Given the description of an element on the screen output the (x, y) to click on. 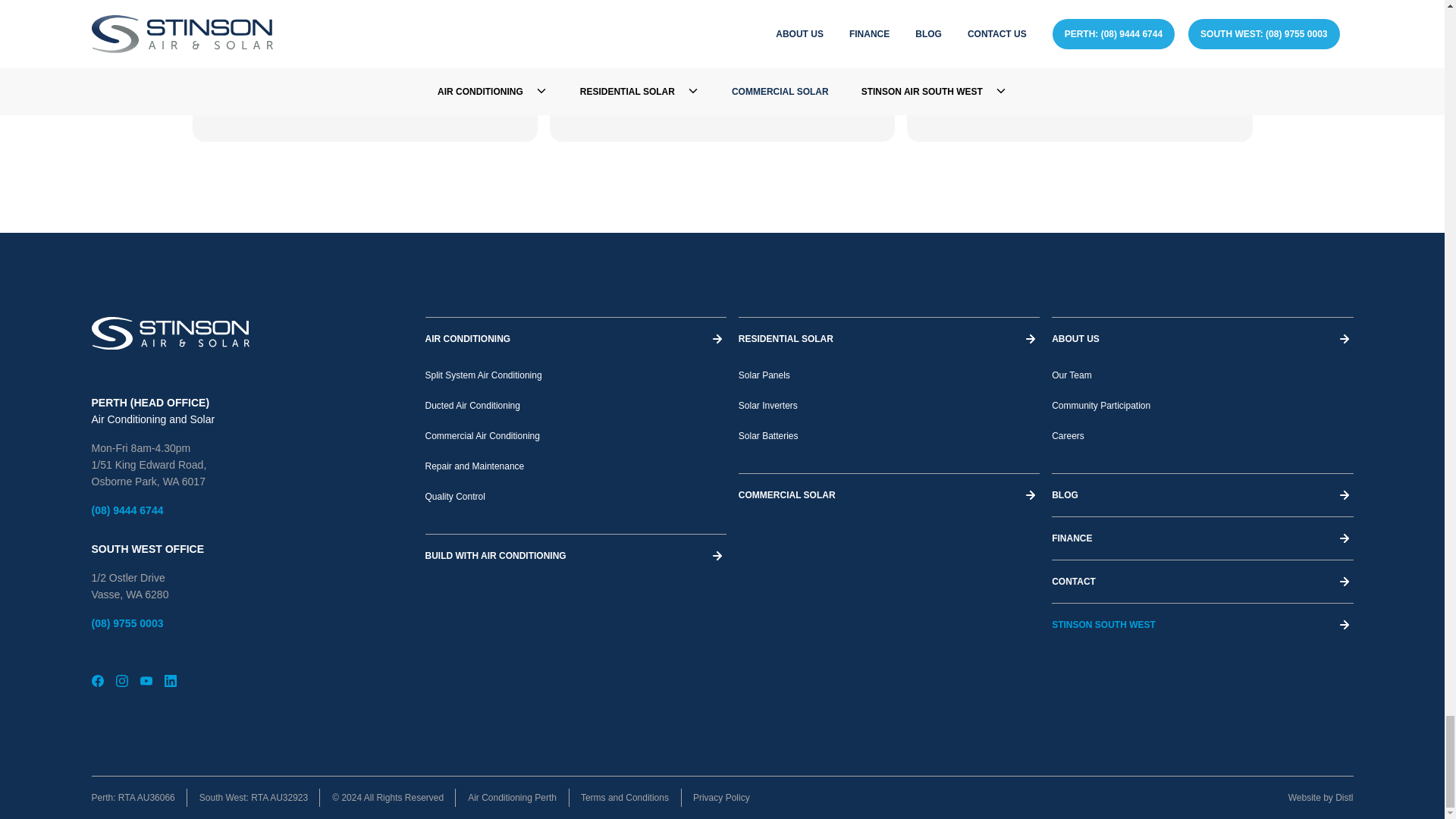
Facebook (96, 680)
LinkedIn (169, 680)
Instagram (121, 680)
YouTube (145, 680)
